Given the description of an element on the screen output the (x, y) to click on. 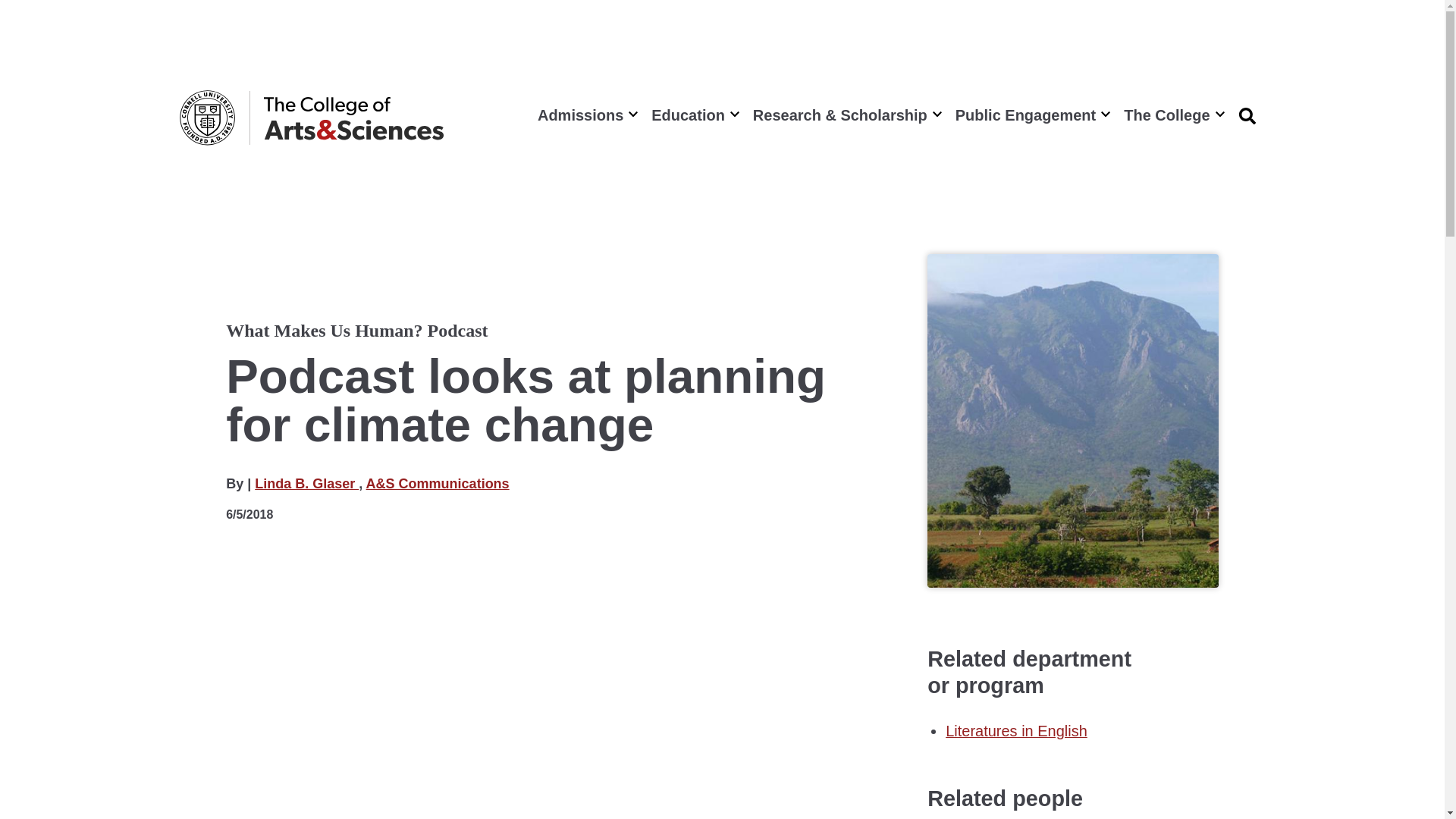
Public Engagement (1030, 115)
open subnavigation (1219, 112)
Education (693, 115)
open subnavigation (1104, 112)
open subnavigation (937, 112)
Admissions (585, 115)
Cornell University (206, 117)
The College (1171, 115)
Cornell University (206, 117)
open subnavigation (632, 112)
open subnavigation (734, 112)
Building Resilience (534, 721)
